Given the description of an element on the screen output the (x, y) to click on. 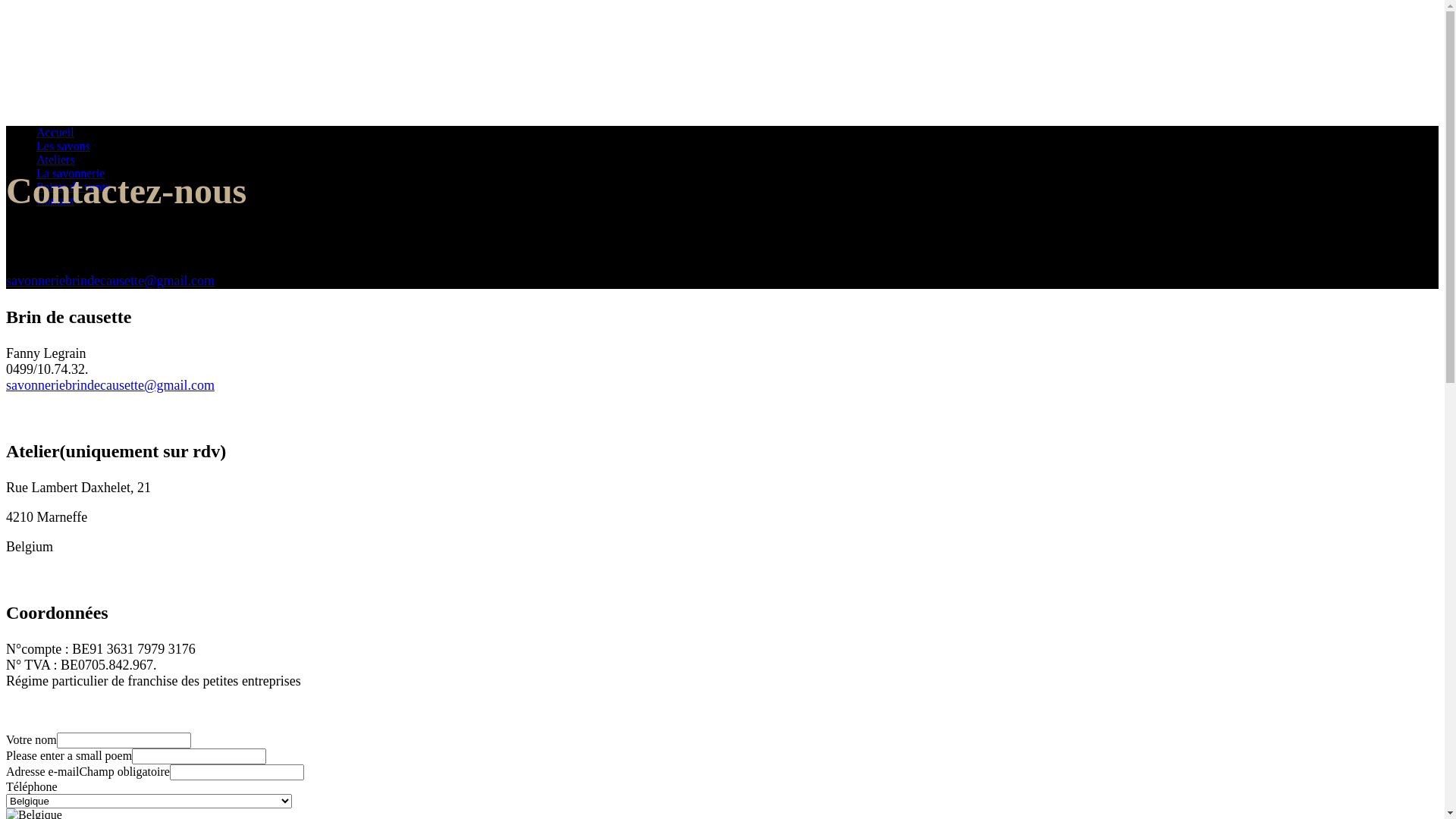
savonneriebrindecausette@gmail.com Element type: text (110, 280)
Contact Element type: text (55, 200)
Points de vente Element type: text (73, 186)
Ateliers Element type: text (55, 159)
Accueil Element type: text (55, 131)
La savonnerie Element type: text (70, 172)
Les savons Element type: text (63, 145)
savonneriebrindecausette@gmail.com Element type: text (110, 384)
